Given the description of an element on the screen output the (x, y) to click on. 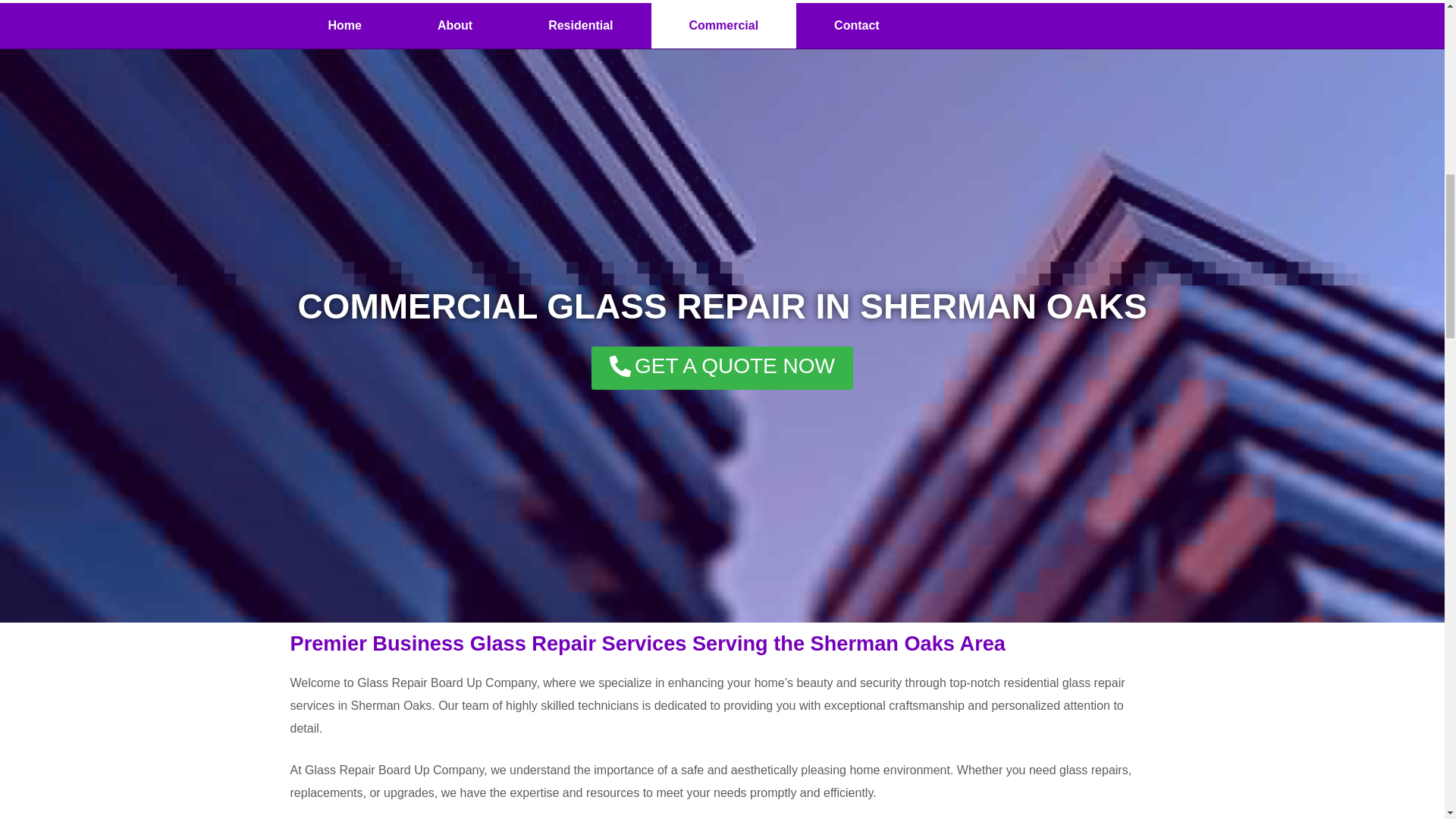
Commercial (723, 25)
Home (343, 25)
Contact (856, 25)
About (454, 25)
Residential (580, 25)
GET A QUOTE NOW (722, 367)
